Given the description of an element on the screen output the (x, y) to click on. 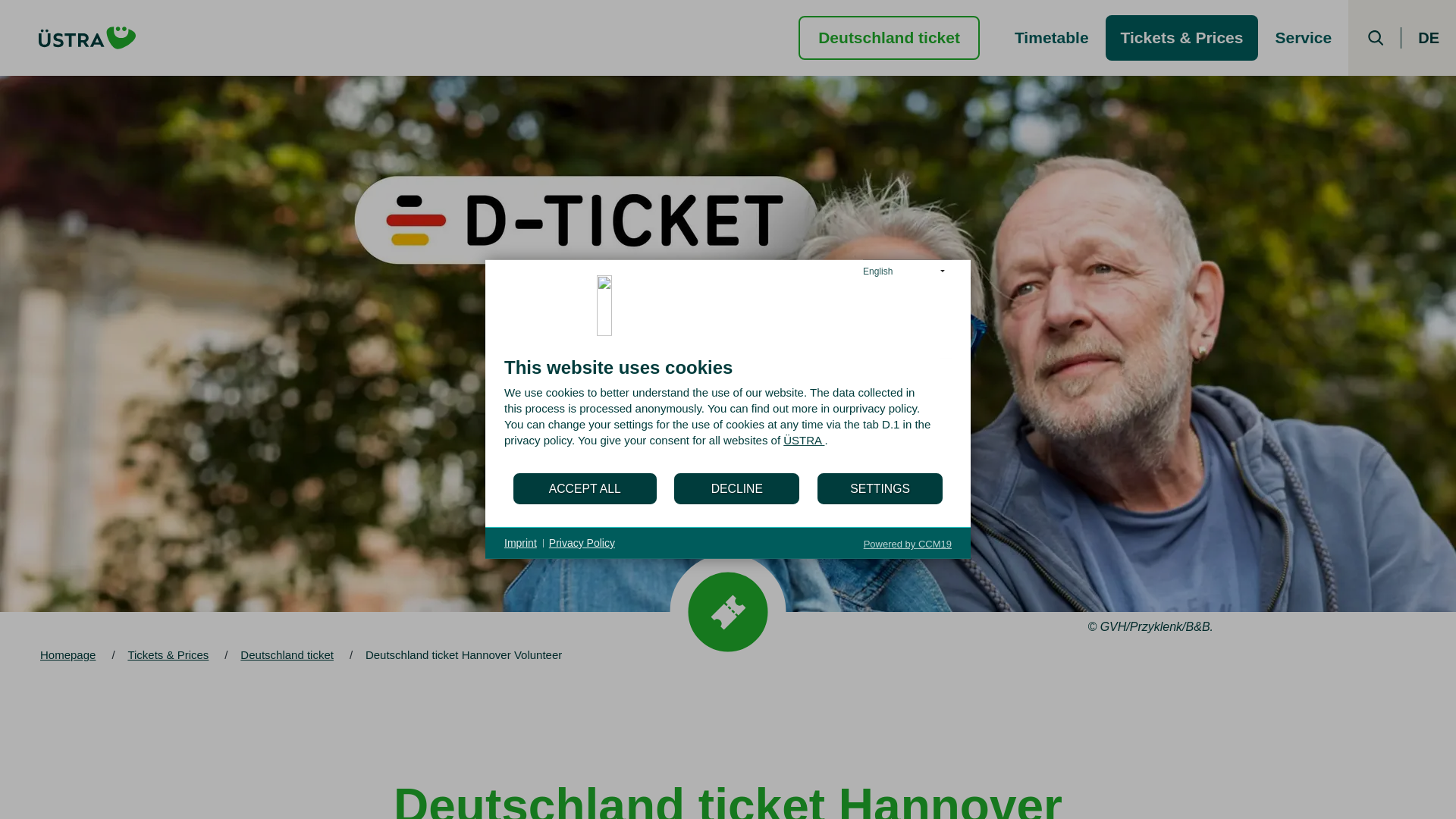
Deutschland ticket (888, 36)
Timetable (1050, 38)
back to homepage (86, 37)
